Given the description of an element on the screen output the (x, y) to click on. 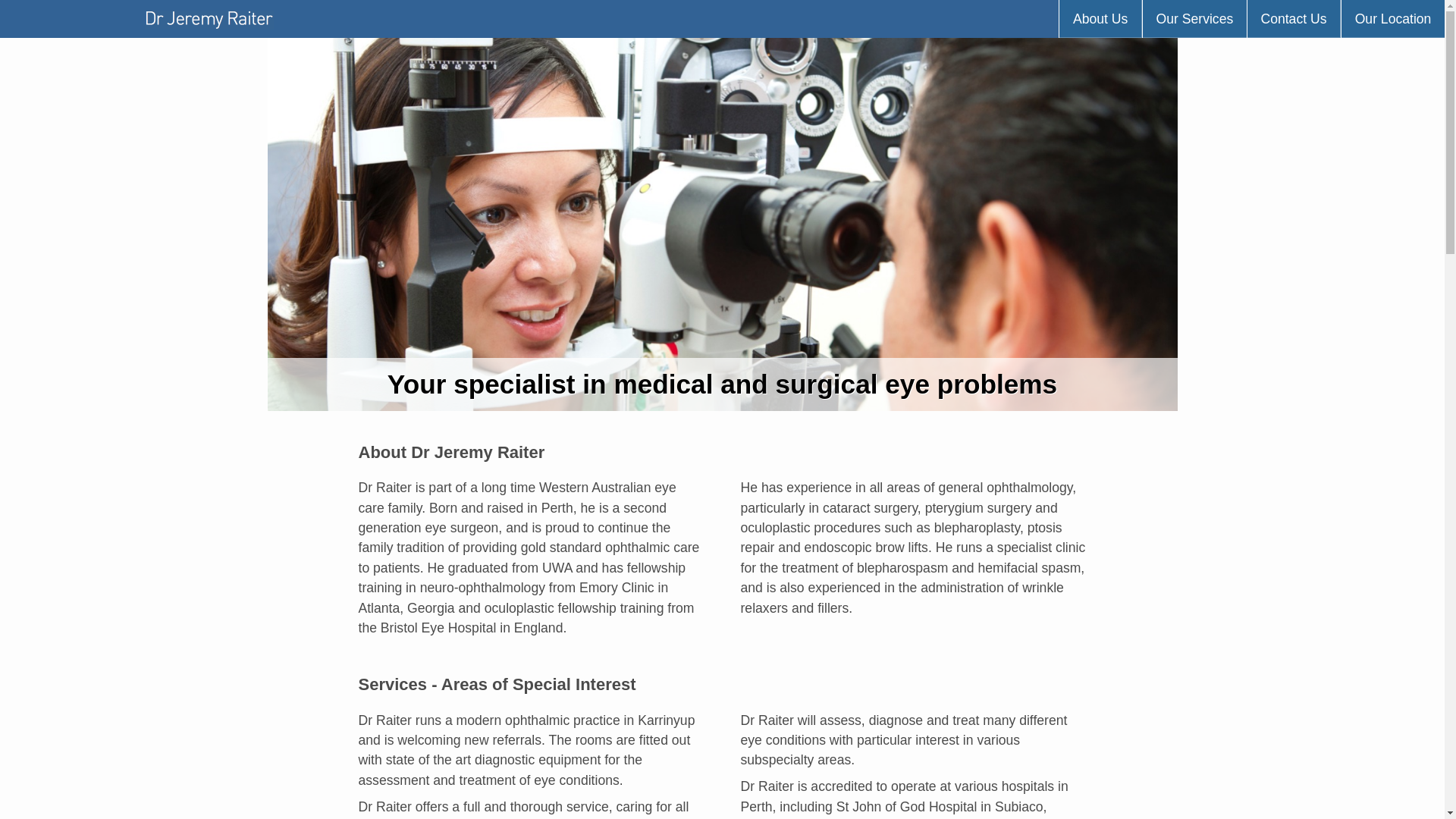
Contact Us Element type: text (1292, 19)
About Us Element type: text (1099, 19)
Our Location Element type: text (1392, 19)
Our Services Element type: text (1194, 19)
